Given the description of an element on the screen output the (x, y) to click on. 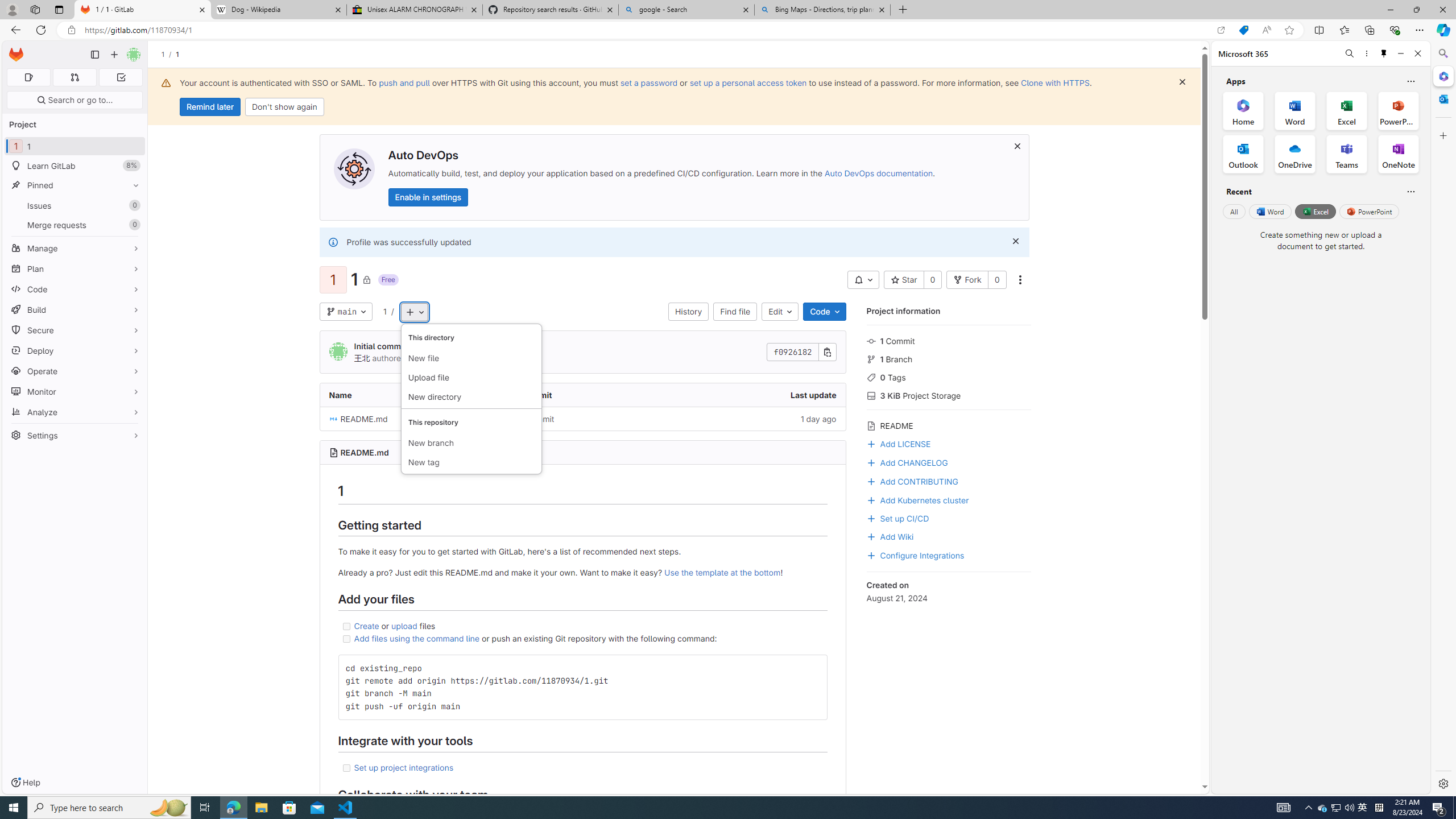
Class: s16 gl-blue-500! gl-mr-3 (871, 555)
Assigned issues 0 (28, 76)
Create or upload files (582, 626)
Merge requests 0 (74, 76)
Name (407, 395)
Build (74, 309)
1 Commit (948, 340)
Add Wiki (890, 535)
 Star (903, 280)
Secure (74, 330)
README (948, 424)
Enable in settings (427, 197)
0 (996, 280)
